Given the description of an element on the screen output the (x, y) to click on. 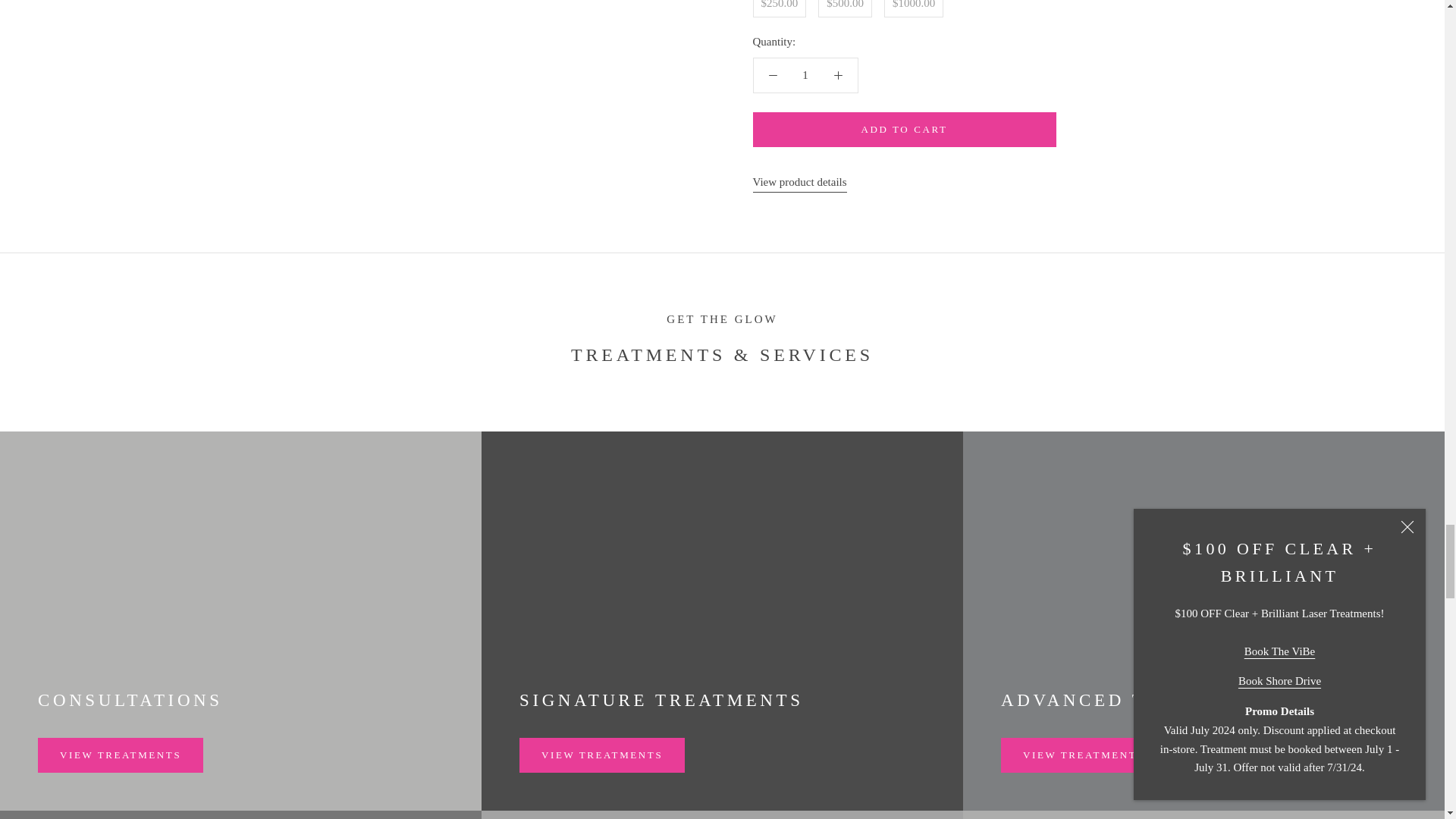
1 (805, 74)
